Given the description of an element on the screen output the (x, y) to click on. 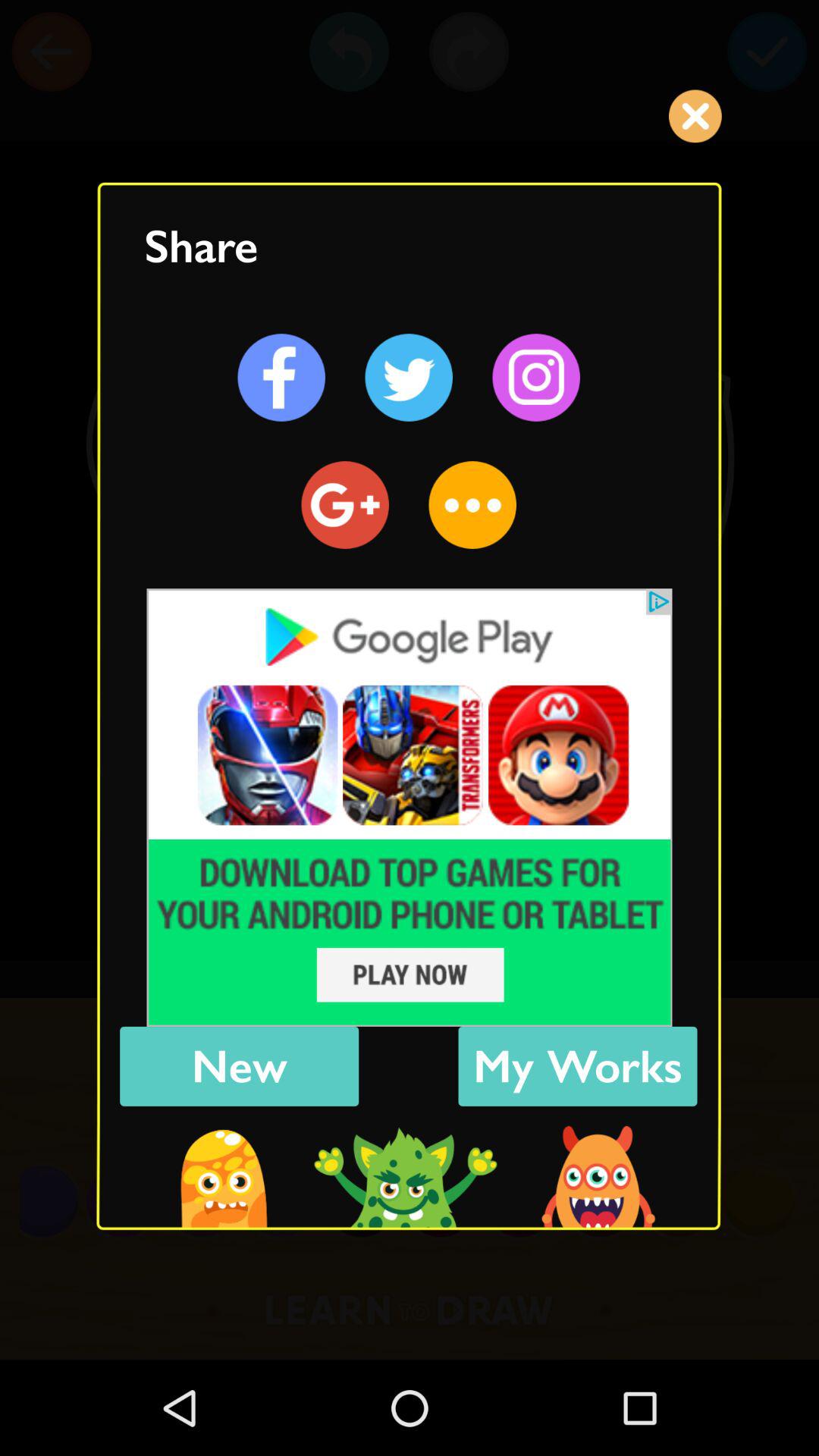
select the option new (238, 1066)
click on the cross button (695, 116)
select the logo right to google plus (472, 504)
select the blue color box beside new (577, 1066)
